Given the description of an element on the screen output the (x, y) to click on. 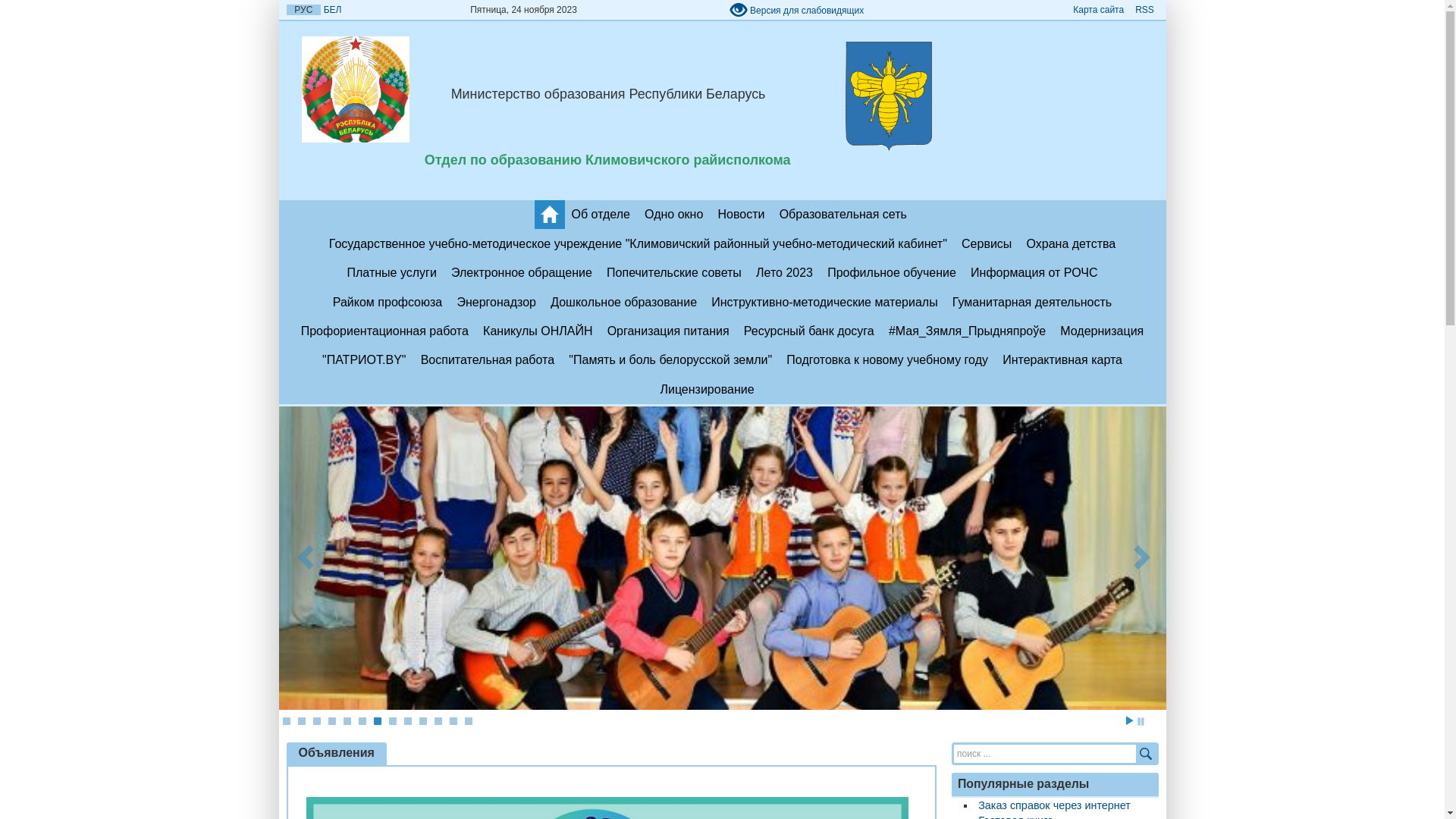
10 Element type: text (422, 720)
1 Element type: text (285, 720)
4 Element type: text (331, 720)
13 Element type: text (467, 720)
3 Element type: text (316, 720)
RSS Element type: text (1143, 9)
5 Element type: text (346, 720)
2 Element type: text (300, 720)
9 Element type: text (407, 720)
8 Element type: text (391, 720)
12 Element type: text (452, 720)
7 Element type: text (376, 720)
11 Element type: text (437, 720)
6 Element type: text (361, 720)
